Given the description of an element on the screen output the (x, y) to click on. 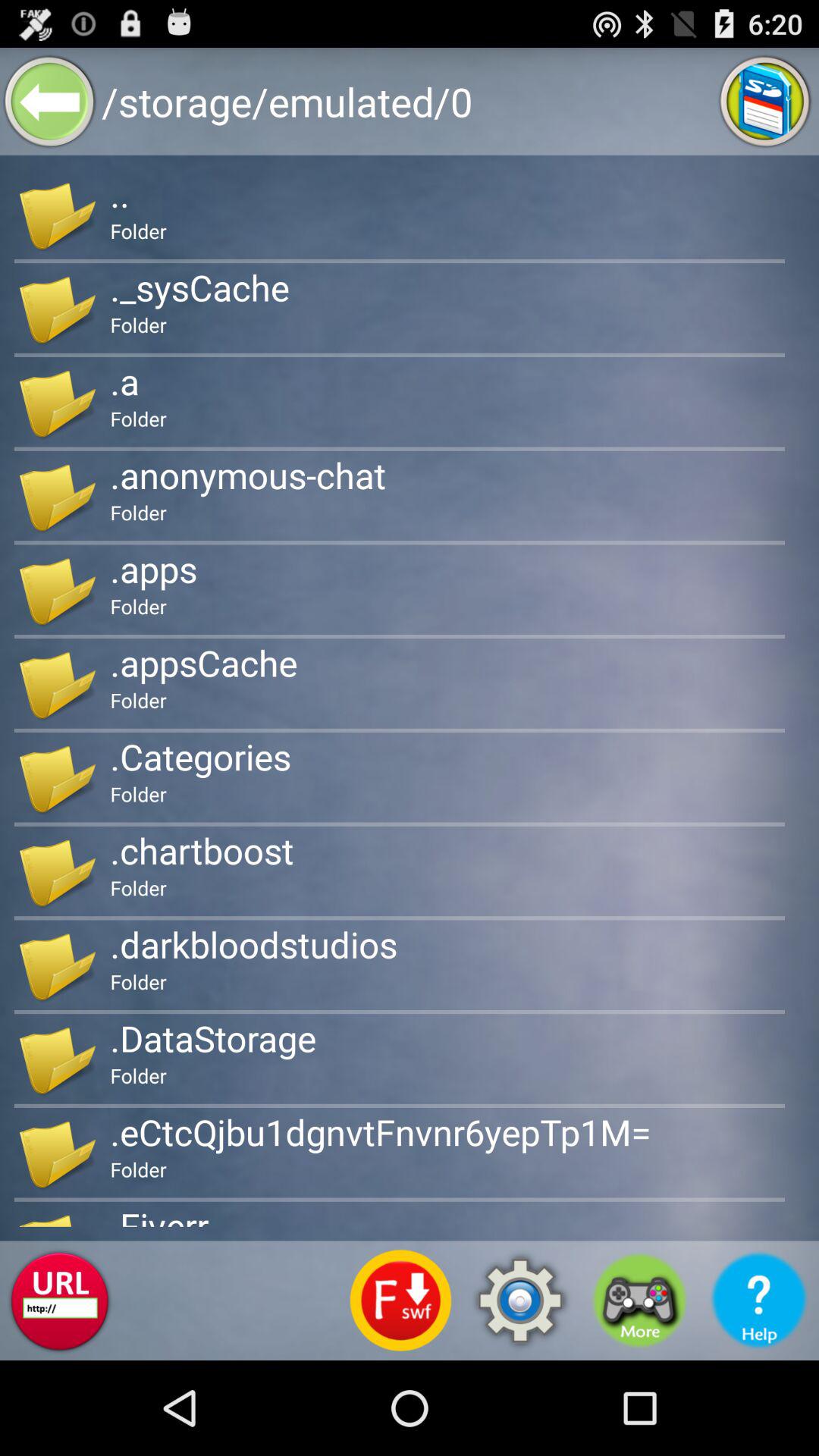
open help (759, 1300)
